Given the description of an element on the screen output the (x, y) to click on. 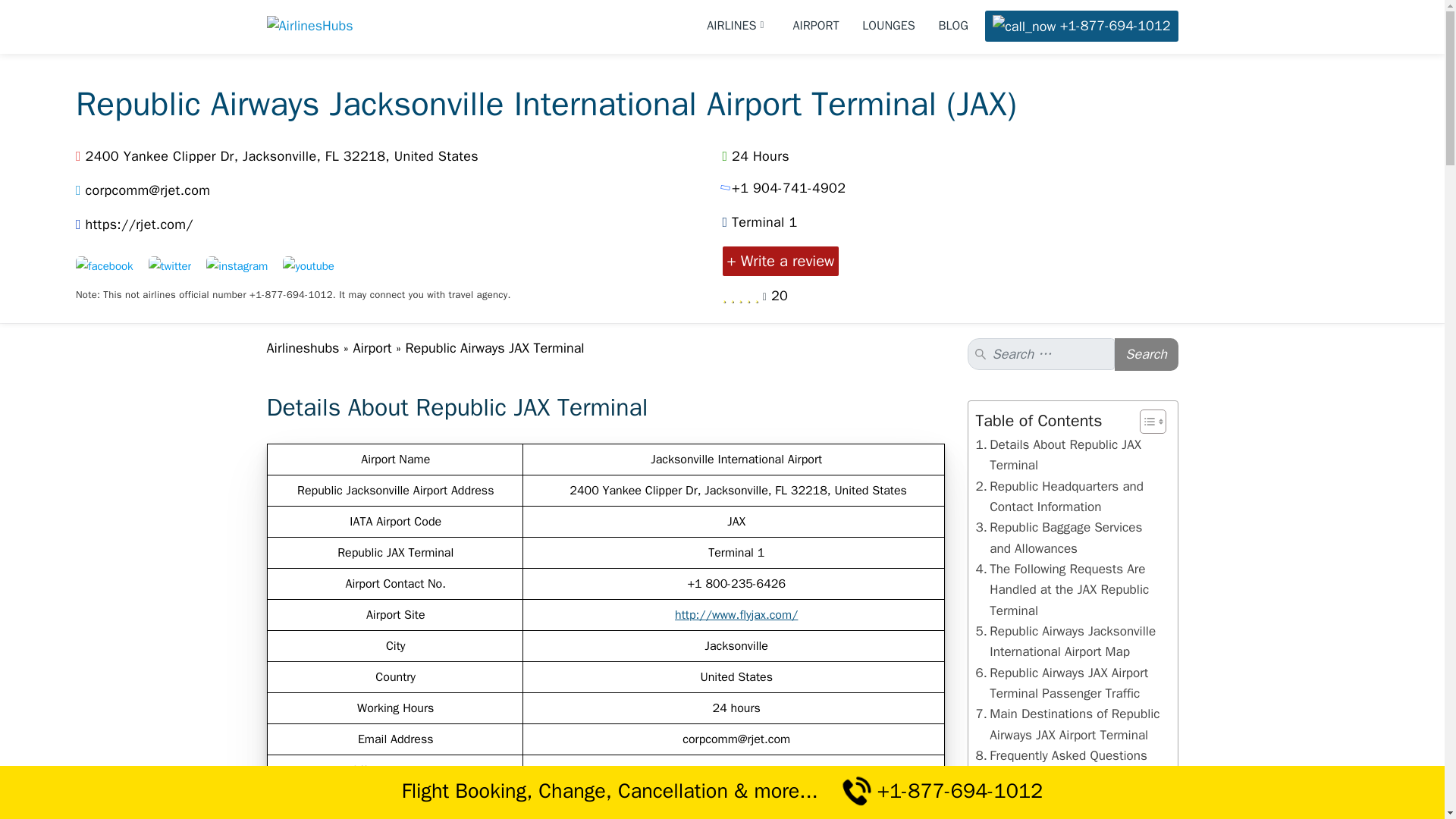
Search (1146, 354)
Search (1146, 354)
AIRLINES (738, 25)
AIRPORT (816, 25)
